Given the description of an element on the screen output the (x, y) to click on. 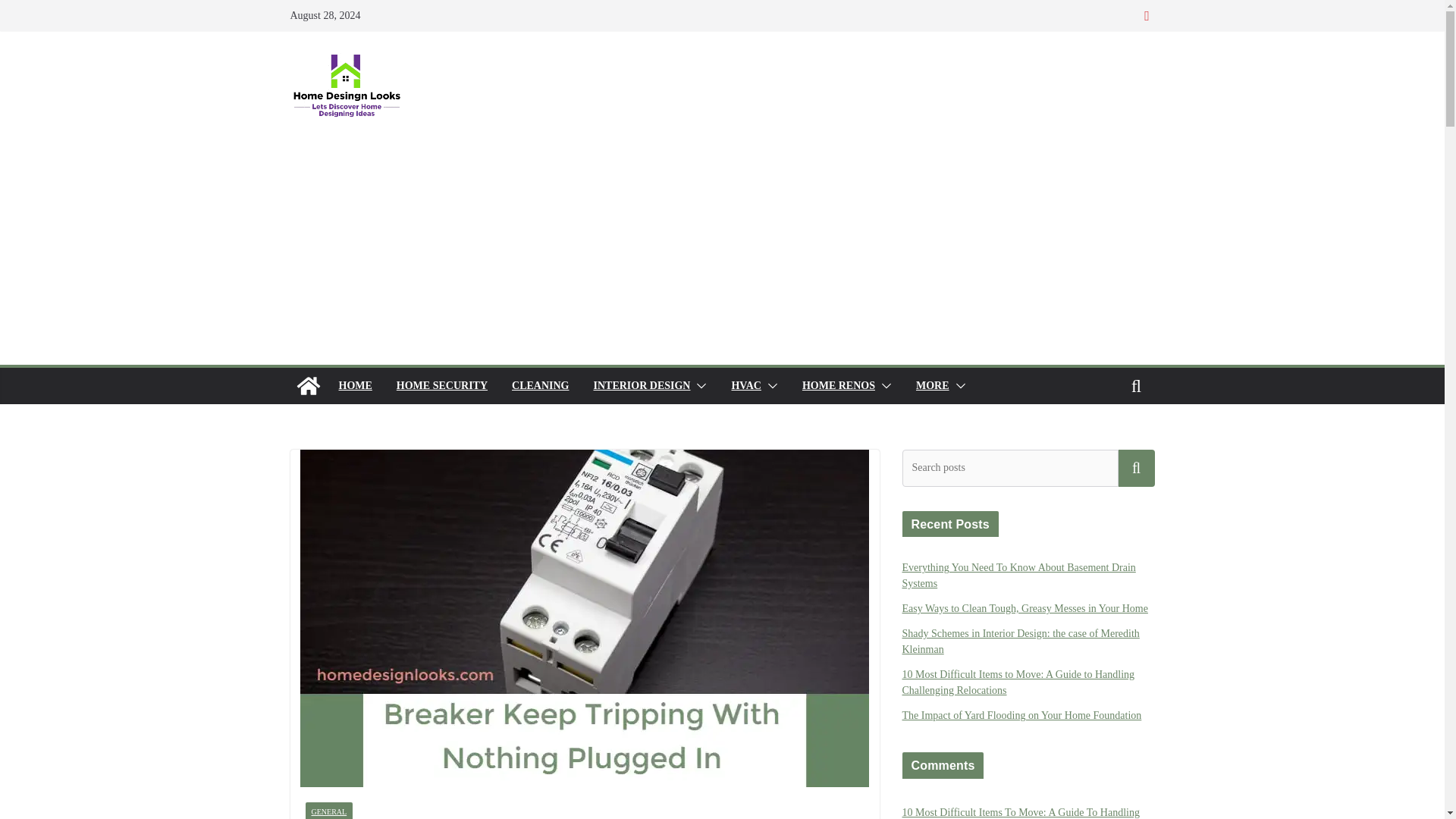
GENERAL (328, 810)
HOME (354, 385)
HOME SECURITY (441, 385)
MORE (932, 385)
INTERIOR DESIGN (641, 385)
HVAC (745, 385)
HOME RENOS (838, 385)
CLEANING (540, 385)
Best blog for solution for home problems (307, 385)
